Given the description of an element on the screen output the (x, y) to click on. 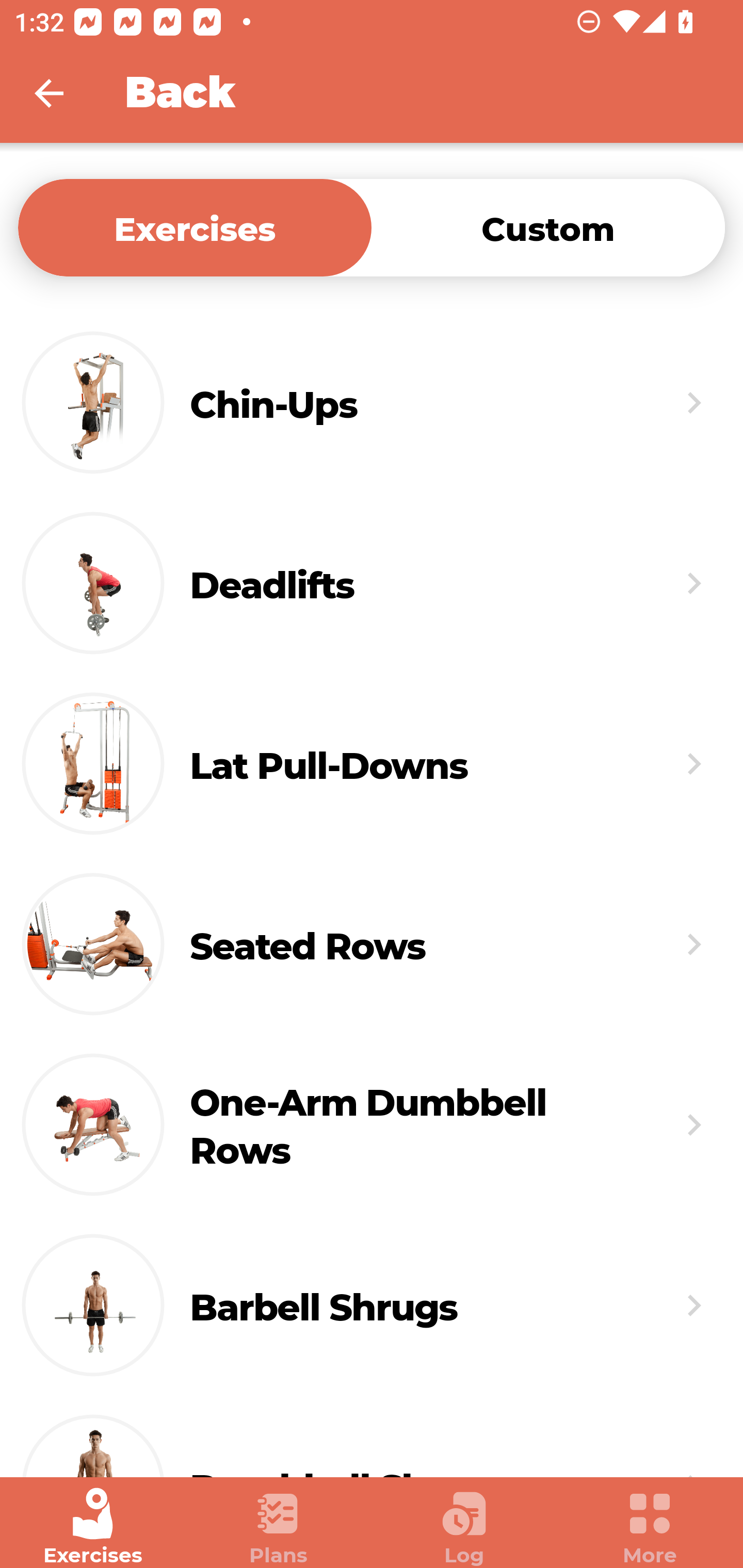
Back (62, 92)
Exercises (194, 226)
Custom (548, 226)
Exercises (92, 1527)
Plans (278, 1527)
Log (464, 1527)
More (650, 1527)
